Given the description of an element on the screen output the (x, y) to click on. 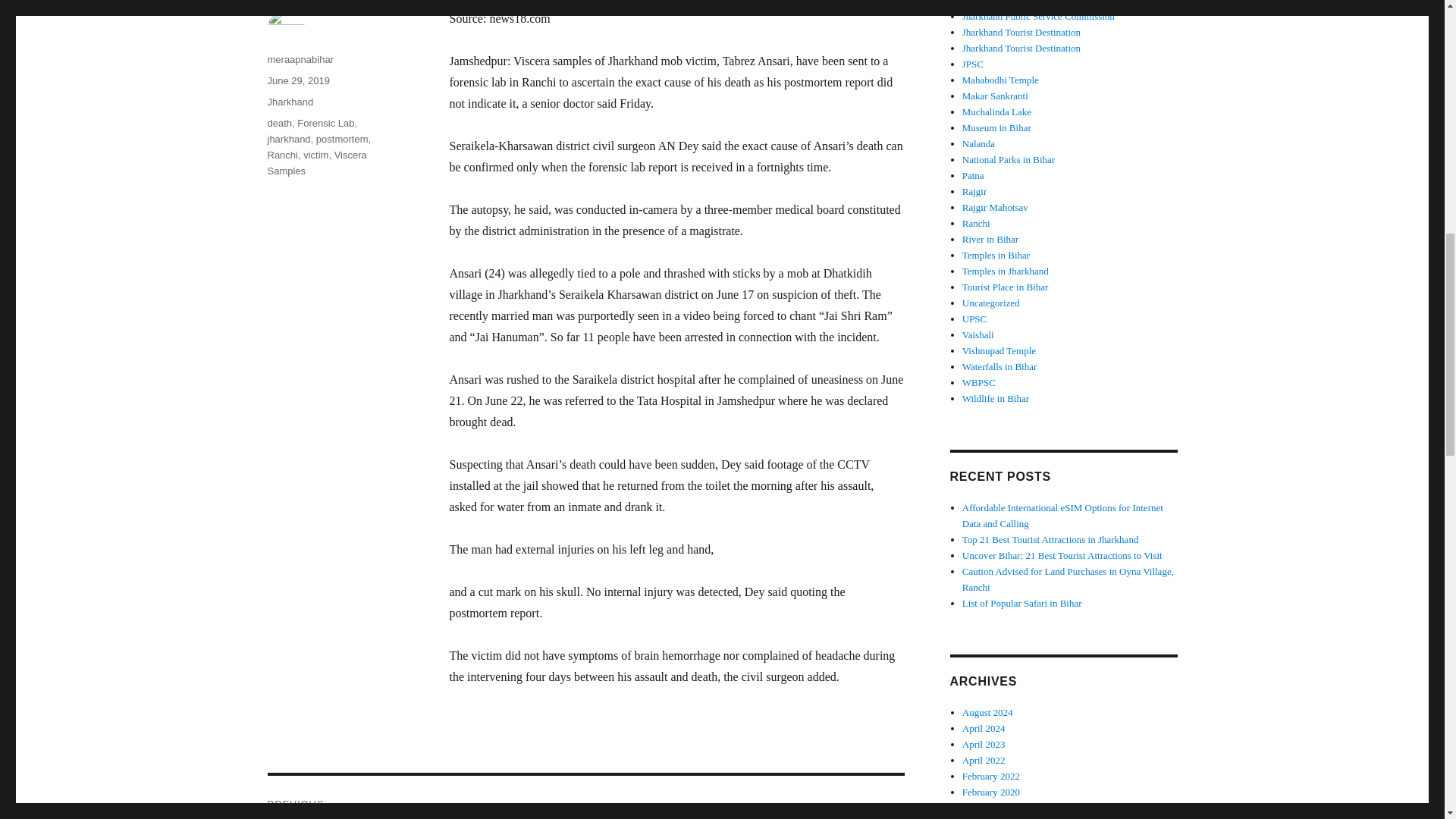
Forensic Lab (325, 122)
June 29, 2019 (297, 80)
meraapnabihar (299, 59)
Ranchi (281, 154)
postmortem (341, 138)
death (279, 122)
Viscera Samples (316, 162)
victim (315, 154)
Jharkhand (289, 101)
jharkhand (288, 138)
